Given the description of an element on the screen output the (x, y) to click on. 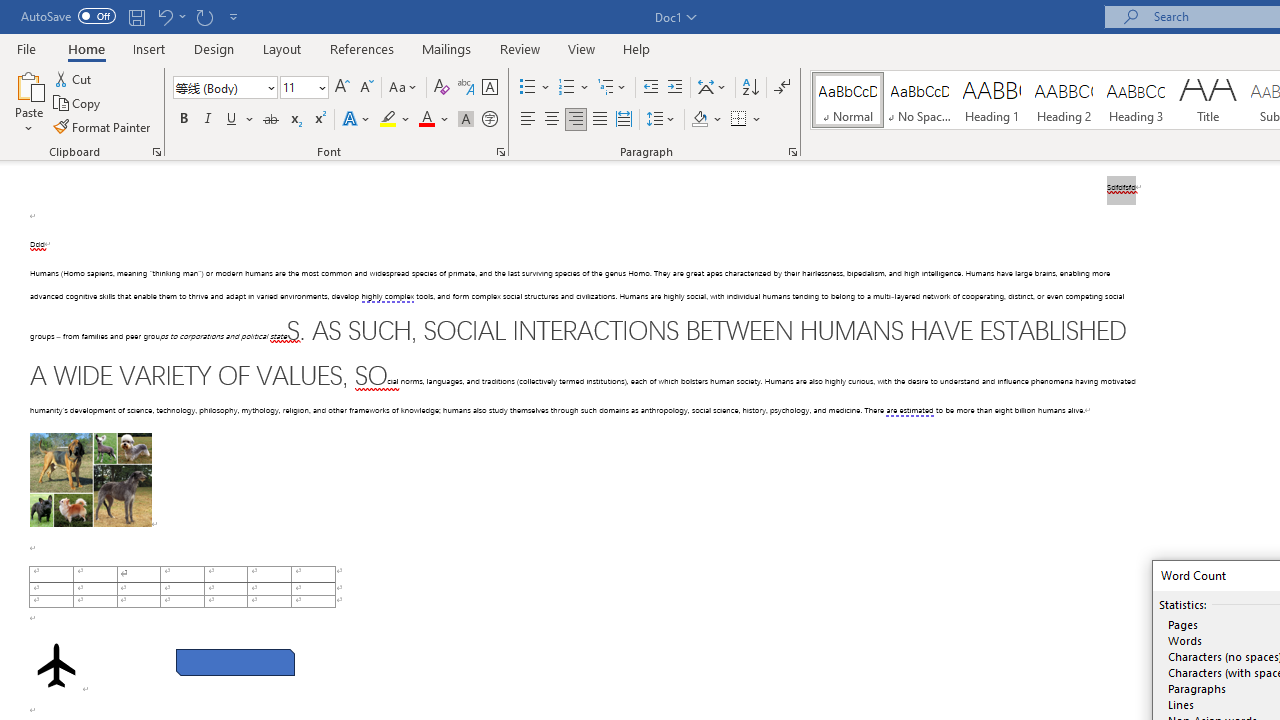
Undo Paragraph Alignment (164, 15)
